Given the description of an element on the screen output the (x, y) to click on. 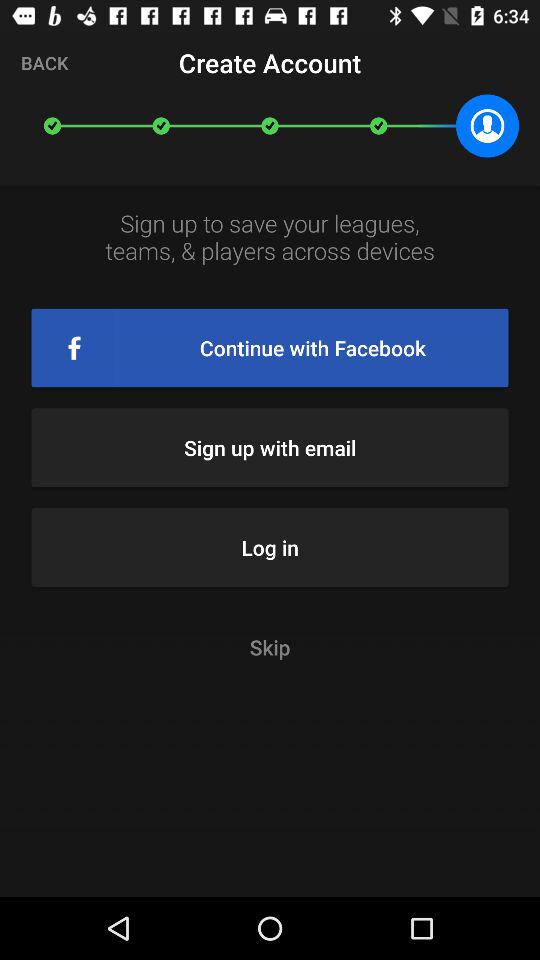
select icon below log in item (269, 646)
